Given the description of an element on the screen output the (x, y) to click on. 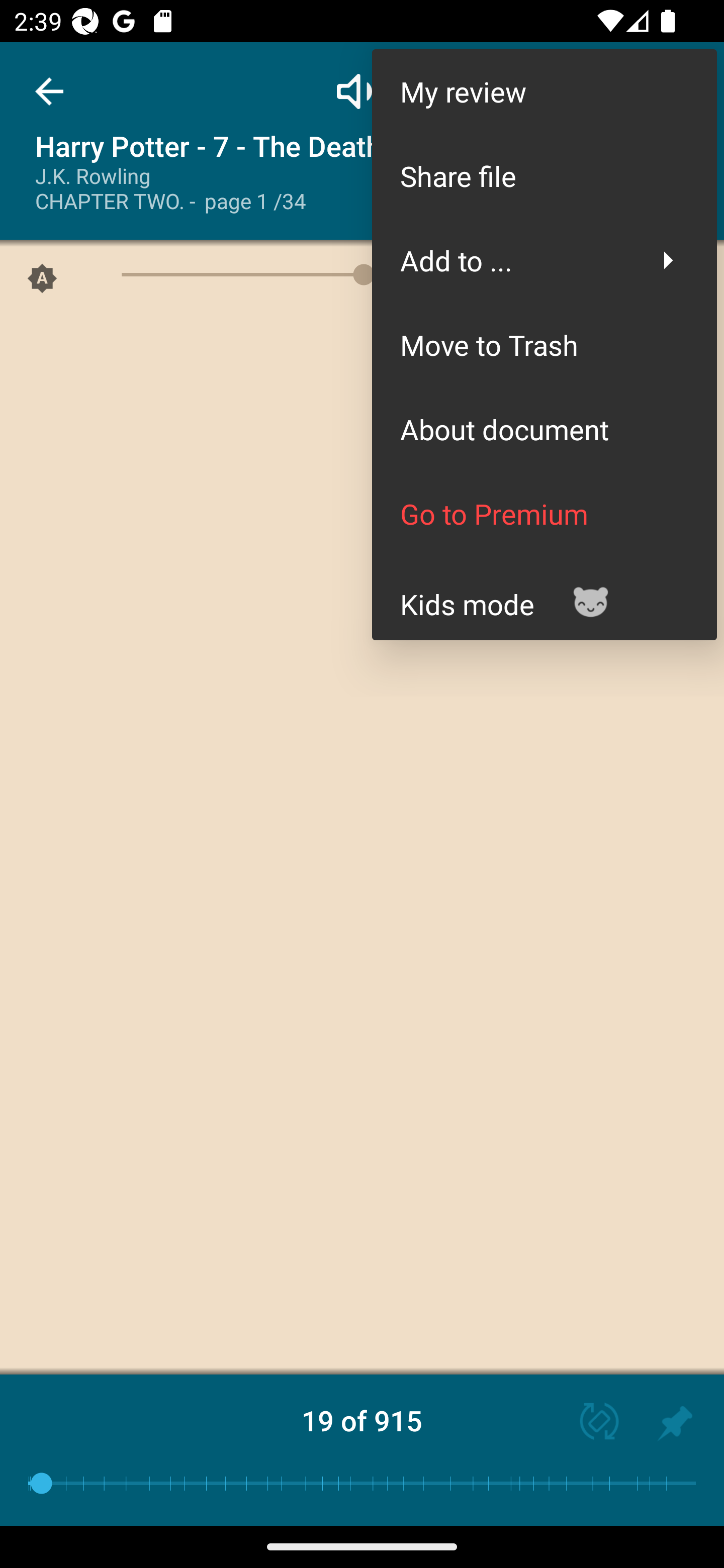
My review (544, 90)
Share file (544, 175)
Add to ... (544, 259)
Move to Trash (544, 344)
About document (544, 429)
Go to Premium (544, 513)
Kids mode     * (544, 597)
